Given the description of an element on the screen output the (x, y) to click on. 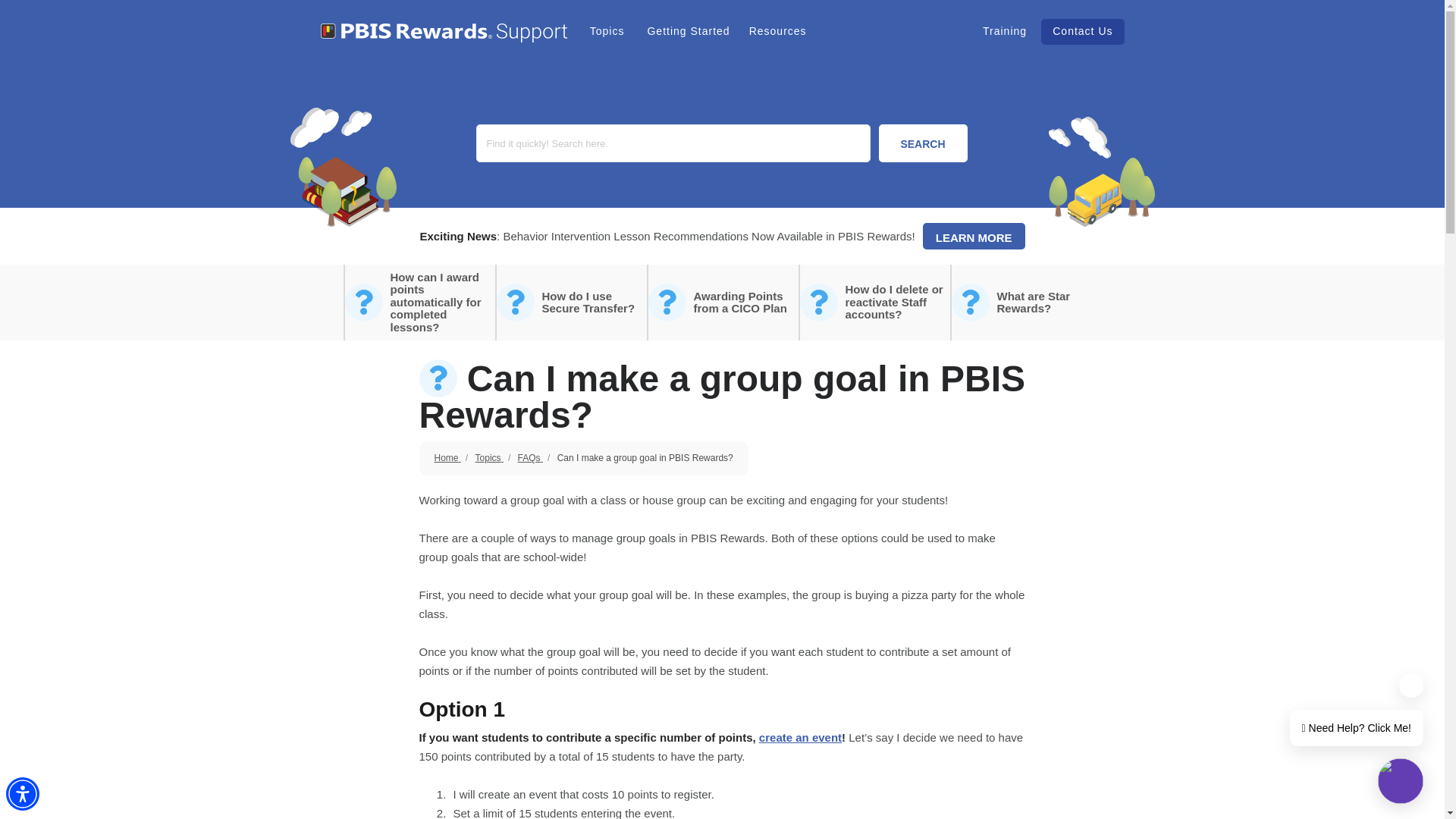
LEARN MORE (974, 235)
Getting Started (685, 30)
Contact Us (1082, 30)
How do I use Secure Transfer? (570, 302)
SEARCH (921, 143)
Awarding Points from a CICO Plan (721, 302)
PBIS Rewards Support Center (443, 33)
What are Star Rewards? (1024, 302)
How can I award points automatically for completed lessons? (418, 302)
Topics (607, 30)
Accessibility Menu (22, 793)
How do I delete or reactivate Staff accounts? (873, 302)
Resources (775, 30)
How can I award points automatically for completed lessons? (418, 302)
